Given the description of an element on the screen output the (x, y) to click on. 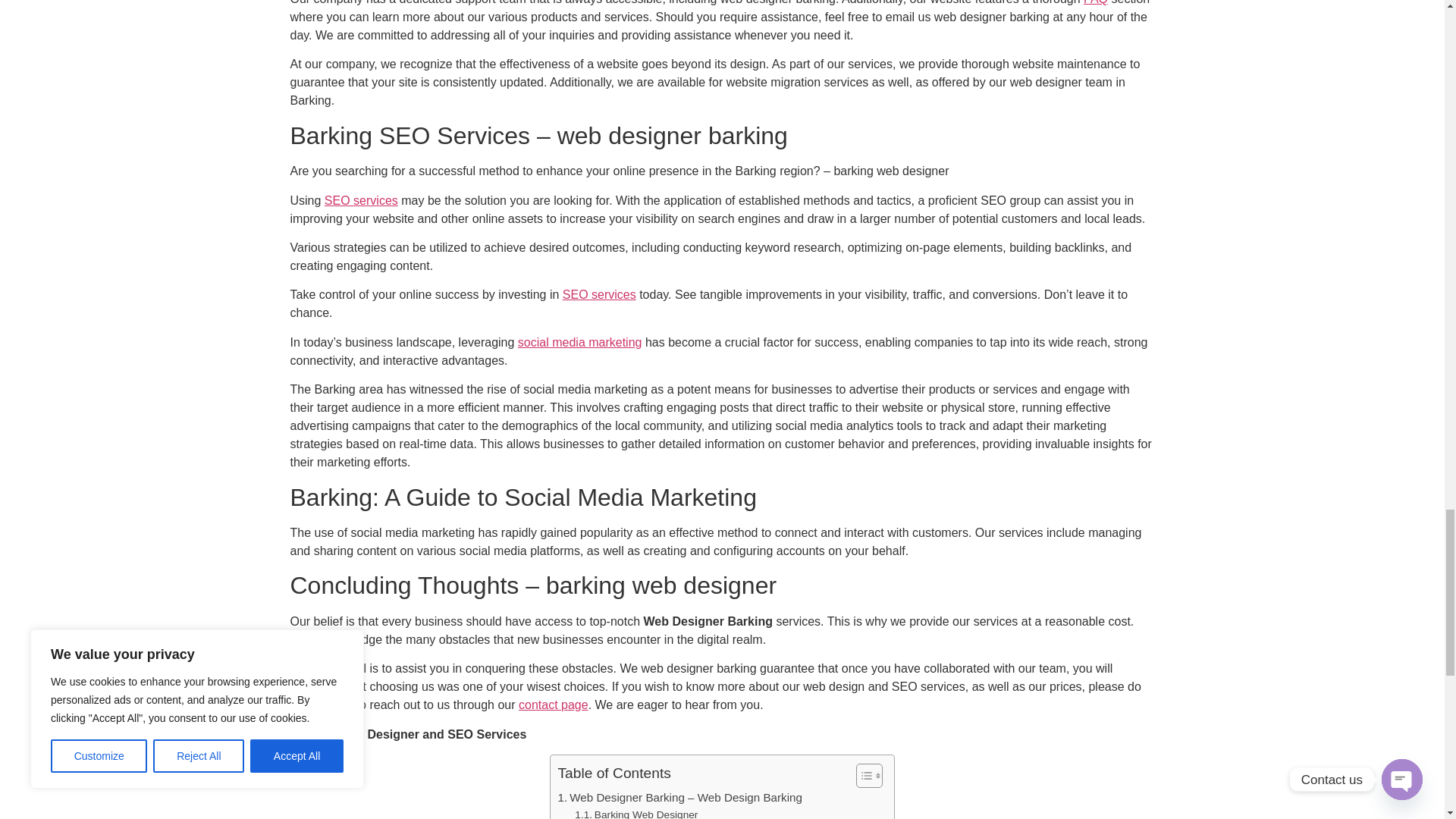
Social Media Marketing (580, 341)
FAQ (1095, 2)
SEO Services (599, 294)
Barking Web Designer (636, 812)
